Given the description of an element on the screen output the (x, y) to click on. 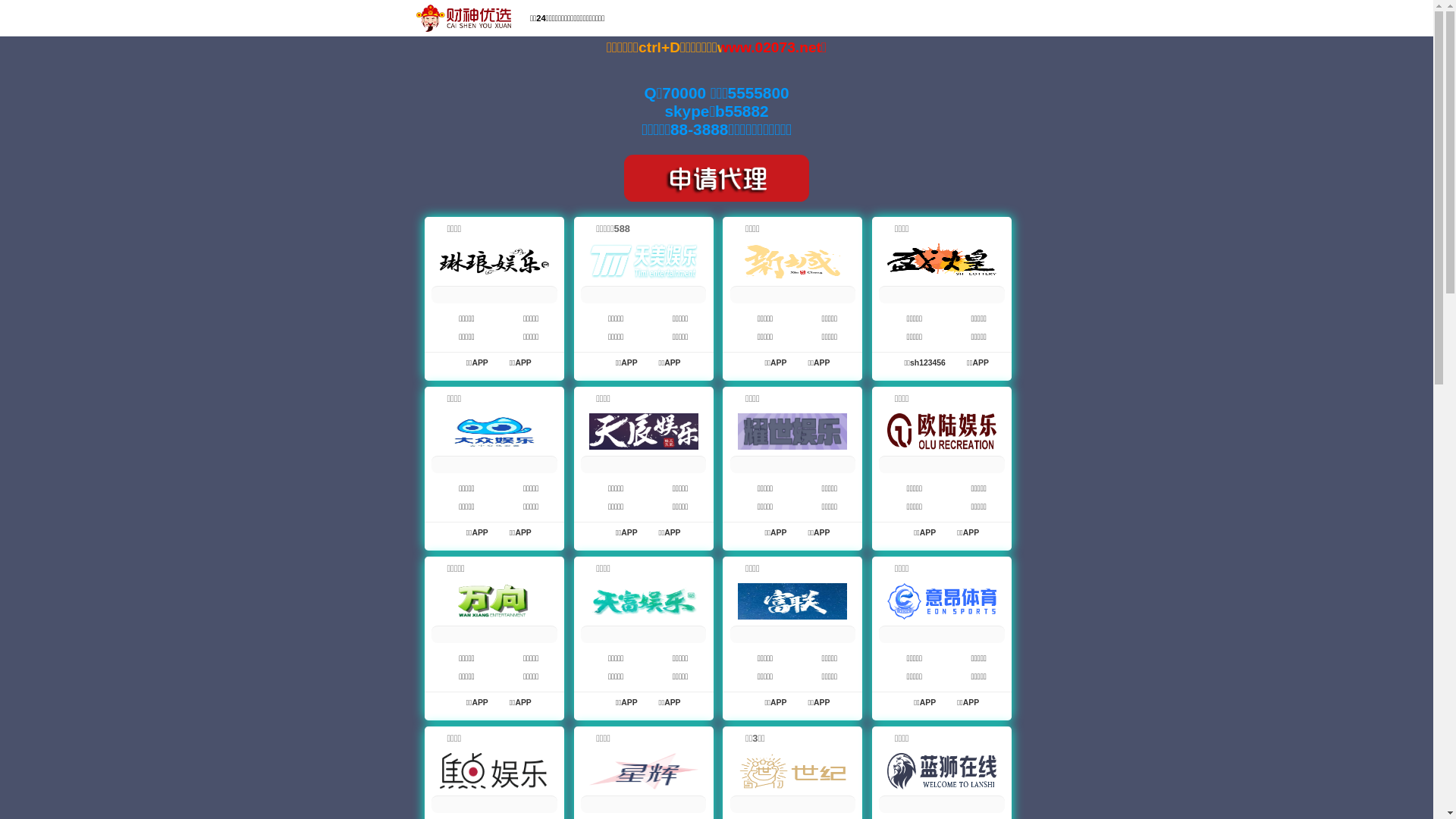
E-mail Element type: text (1162, 19)
QQ Element type: text (1117, 19)
